Given the description of an element on the screen output the (x, y) to click on. 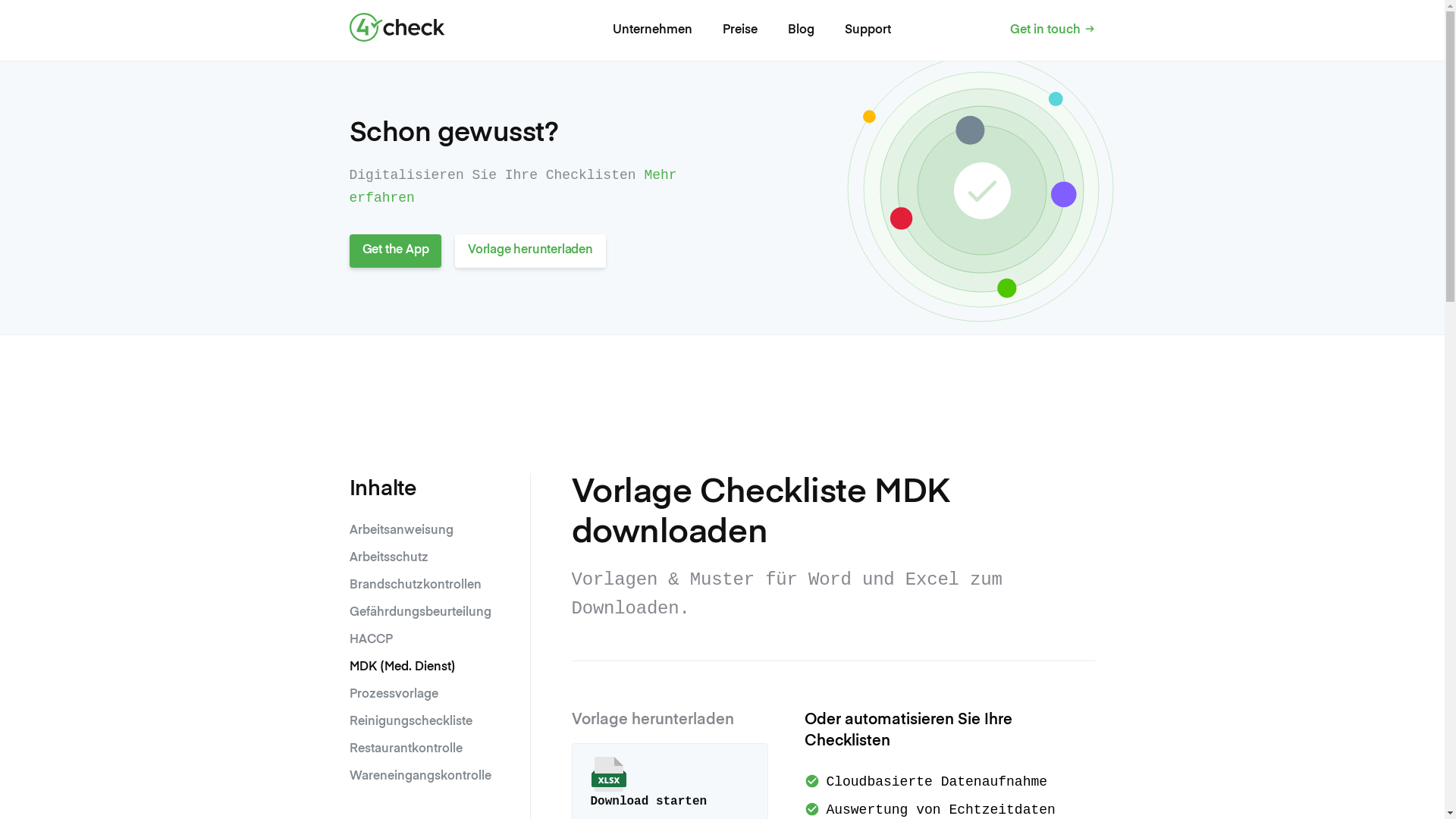
Mehr erfahren Element type: text (512, 186)
Preise Element type: text (738, 30)
HACCP Element type: text (370, 639)
Get in touch Element type: text (1052, 30)
MDK (Med. Dienst) Element type: text (401, 667)
Get the App Element type: text (394, 250)
Brandschutzkontrollen Element type: text (414, 585)
Unternehmen Element type: text (652, 30)
Reinigungscheckliste Element type: text (409, 721)
Vorlage herunterladen Element type: text (530, 250)
Support Element type: text (867, 30)
Blog Element type: text (800, 30)
Arbeitsanweisung Element type: text (400, 530)
Arbeitsschutz Element type: text (387, 558)
Restaurantkontrolle Element type: text (404, 749)
Wareneingangskontrolle Element type: text (419, 776)
Prozessvorlage Element type: text (392, 694)
